Given the description of an element on the screen output the (x, y) to click on. 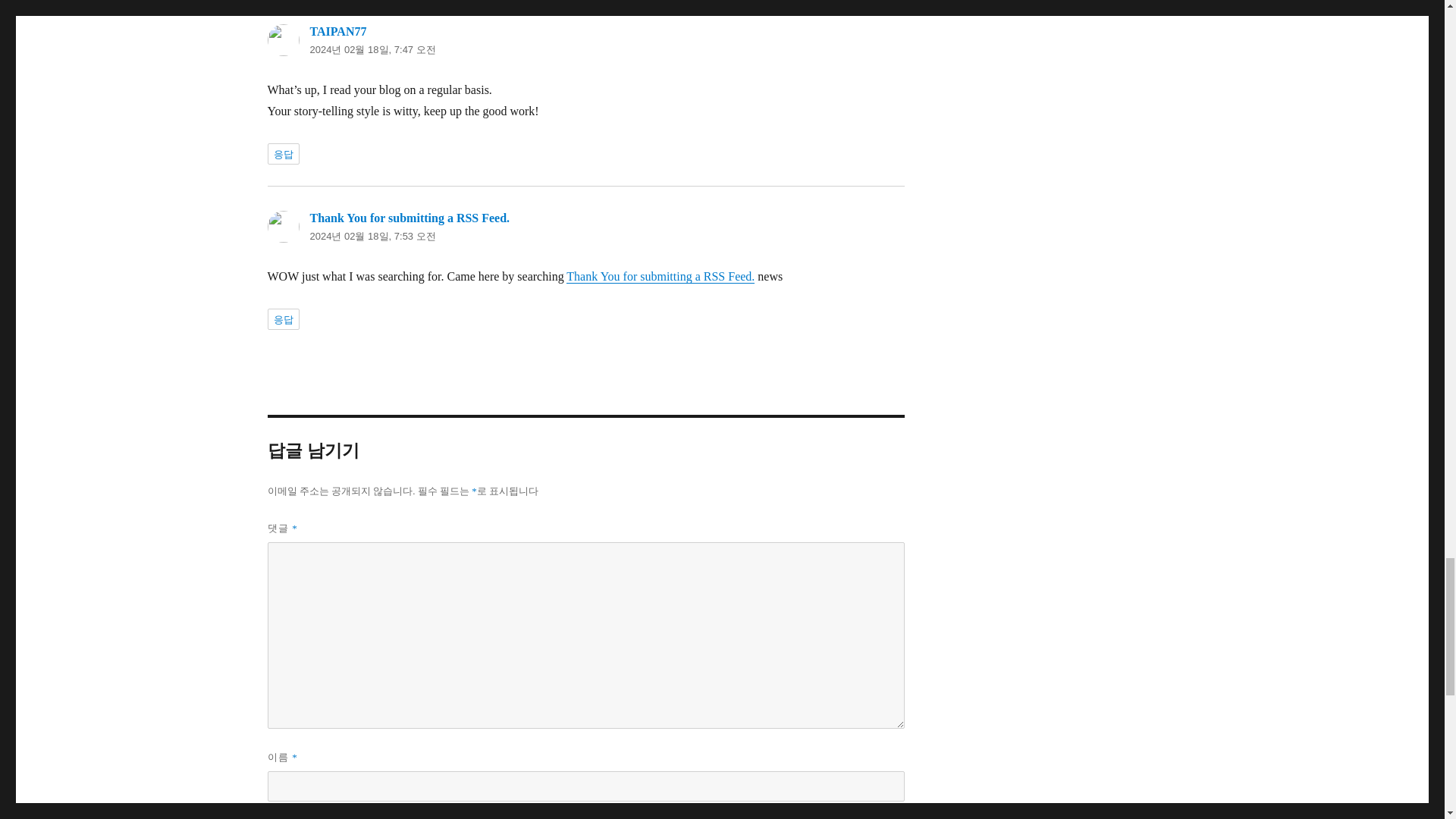
Thank You for submitting a RSS Feed. (408, 217)
Thank You for submitting a RSS Feed. (660, 276)
TAIPAN77 (337, 31)
